Given the description of an element on the screen output the (x, y) to click on. 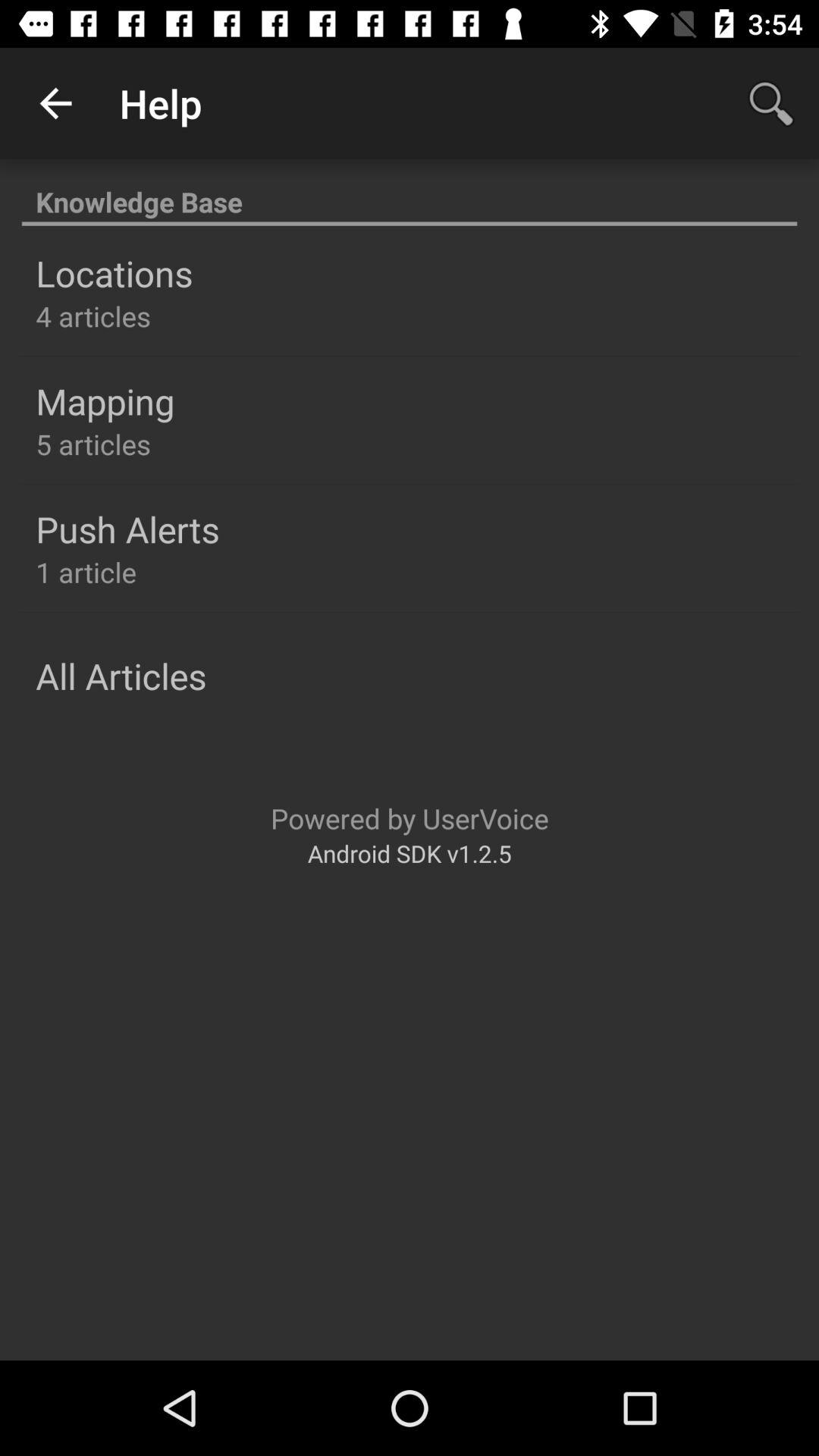
launch icon above the knowledge base (771, 103)
